Given the description of an element on the screen output the (x, y) to click on. 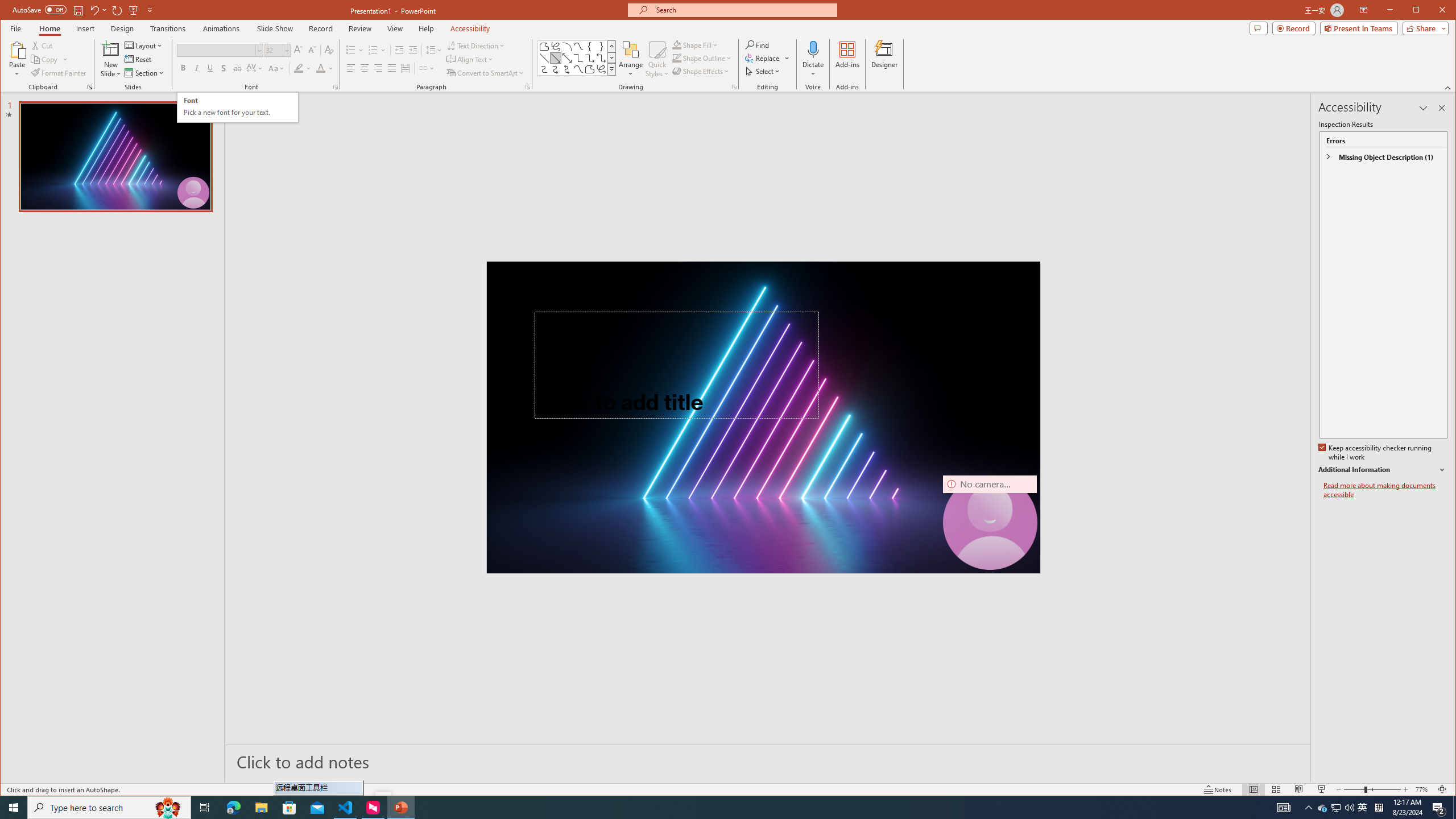
Shape Outline Blue, Accent 1 (676, 57)
Connector: Elbow Double-Arrow (601, 57)
